Given the description of an element on the screen output the (x, y) to click on. 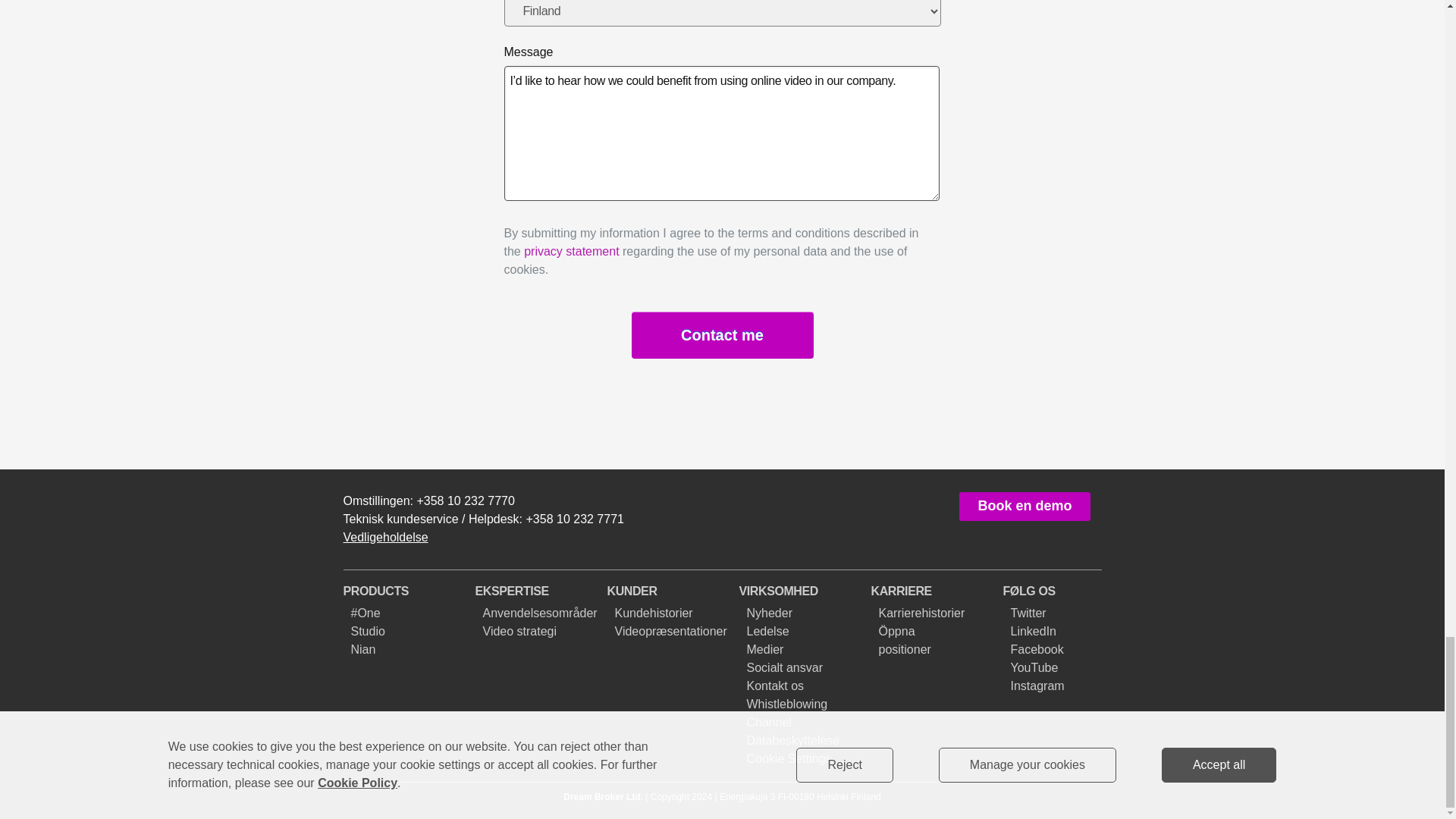
Contact me (721, 335)
Book en demo (1024, 506)
Contact me (721, 335)
Vedligeholdelse (385, 536)
privacy statement (571, 250)
PRODUCTS (375, 590)
